Given the description of an element on the screen output the (x, y) to click on. 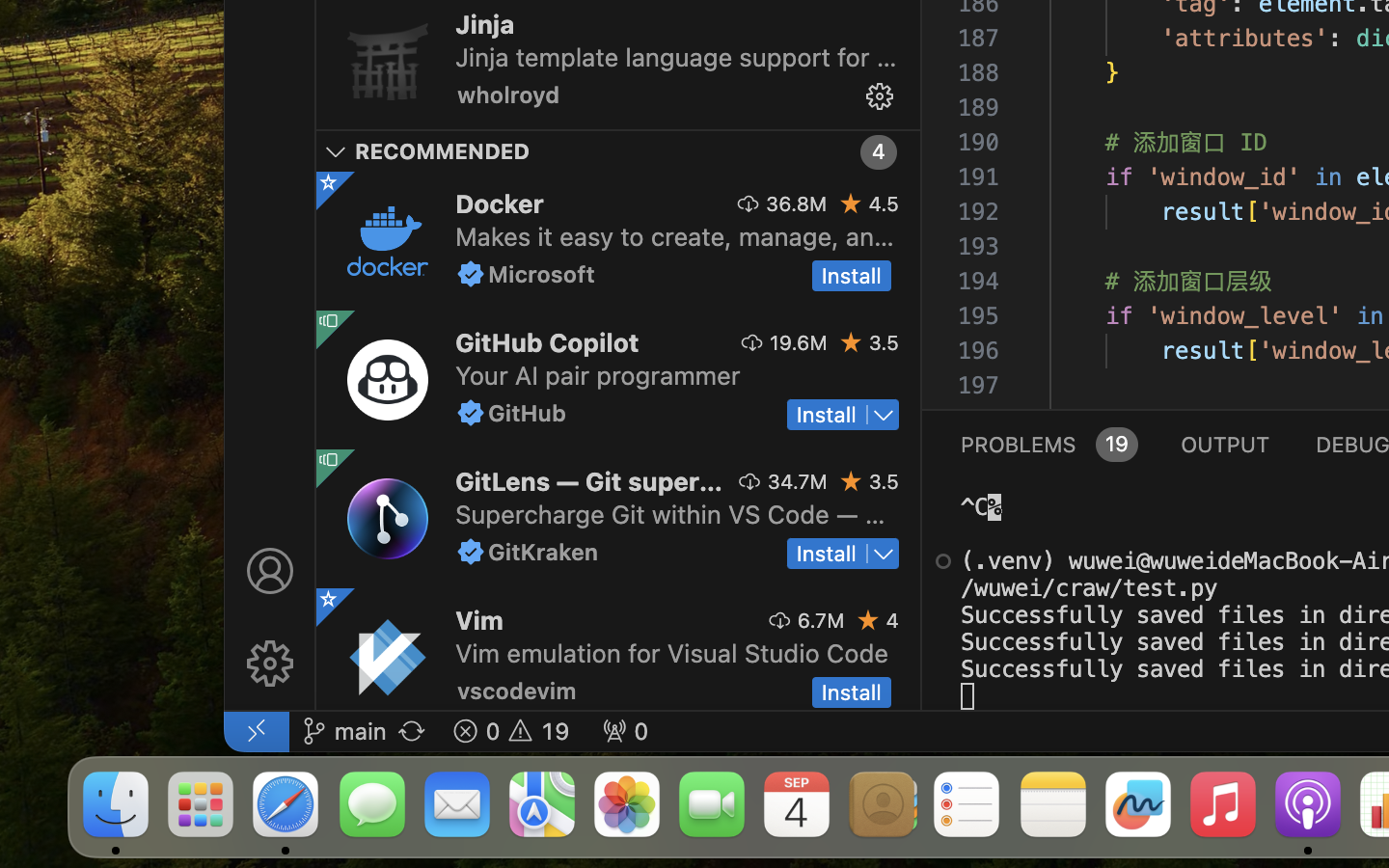
 Element type: AXStaticText (851, 203)
36.8M Element type: AXStaticText (796, 203)
 Element type: AXStaticText (747, 203)
 Element type: AXGroup (269, 663)
GitLens — Git supercharged Element type: AXStaticText (589, 480)
